Given the description of an element on the screen output the (x, y) to click on. 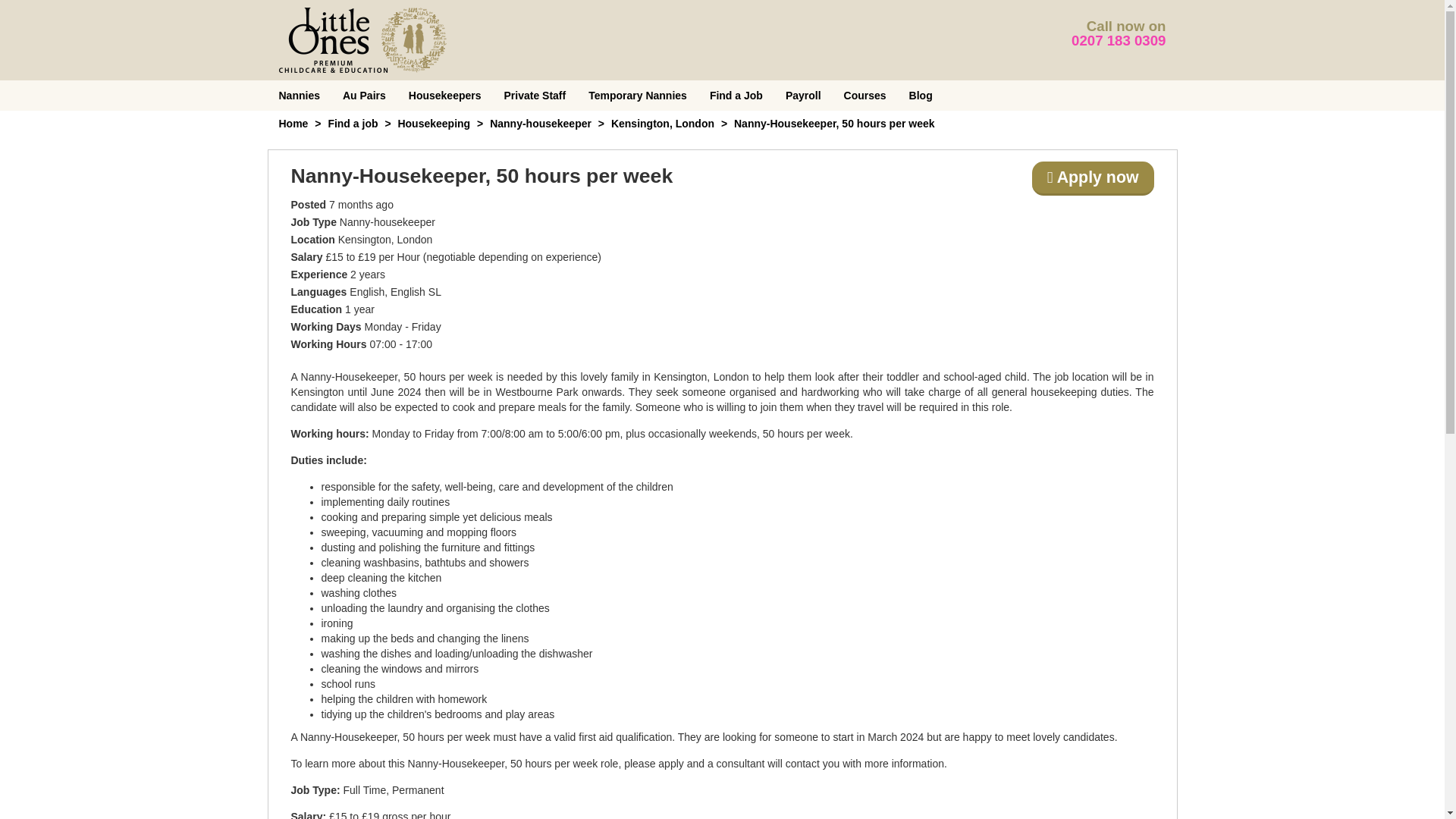
Housekeepers (445, 95)
0207 183 0309 (1118, 40)
Au Pairs (364, 95)
Nannies (298, 95)
